Given the description of an element on the screen output the (x, y) to click on. 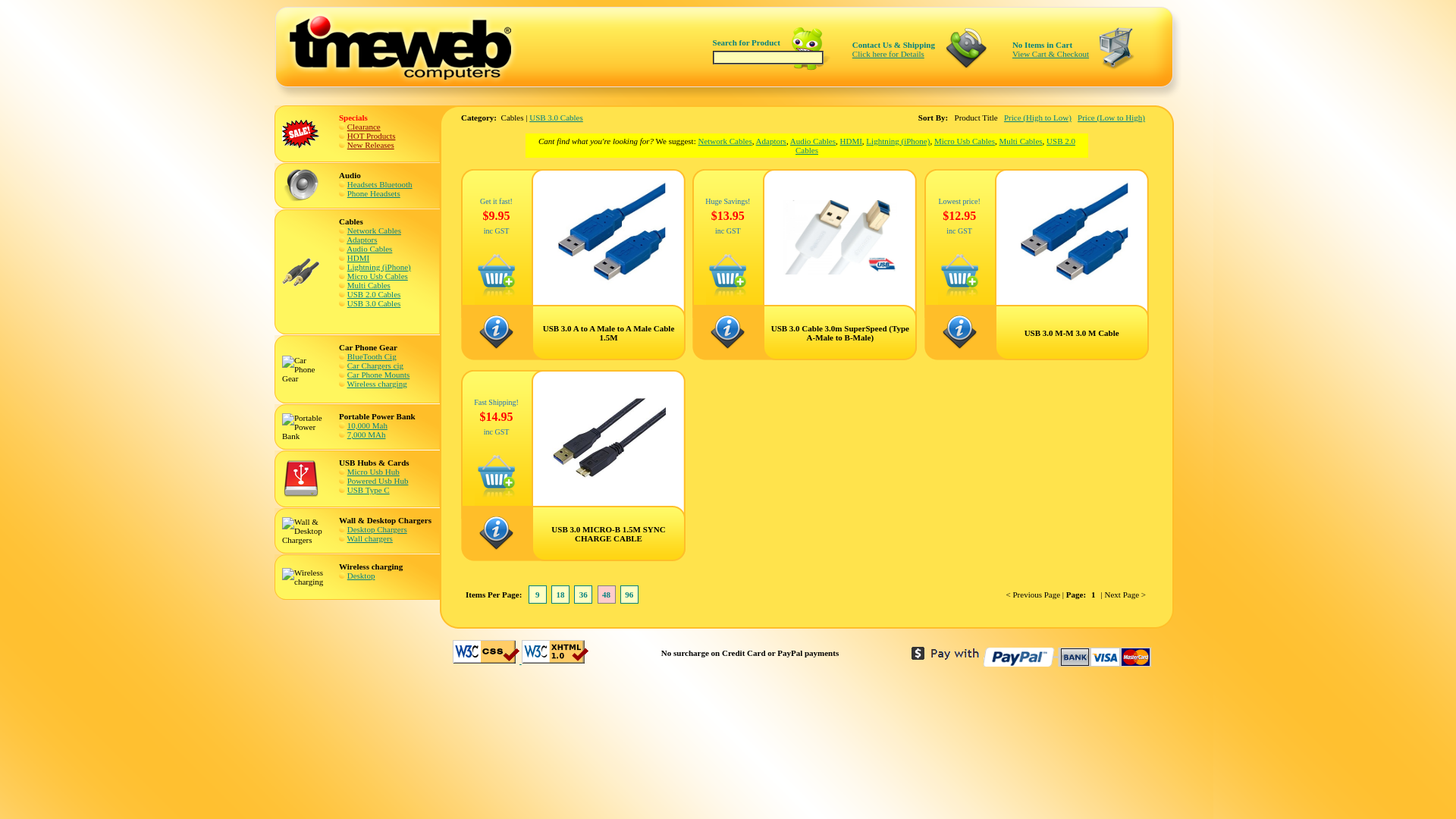
96 Element type: text (628, 594)
Multi Cables Element type: text (1019, 140)
Product Title Element type: text (975, 117)
Network Cables Element type: text (374, 230)
Cables Element type: hover (301, 272)
9 Element type: text (537, 594)
Adaptors Element type: text (771, 140)
< Previous Page Element type: text (1033, 594)
USB 2.0 Cables Element type: text (374, 293)
Audio Element type: hover (301, 185)
HDMI Element type: text (358, 257)
Desktop Element type: text (361, 575)
10,000 Mah Element type: text (367, 424)
Micro Usb Cables Element type: text (964, 140)
HOT Products Element type: text (371, 135)
Powered Usb Hub Element type: text (377, 480)
Desktop Chargers Element type: text (377, 528)
Add to Cart Element type: hover (727, 293)
USB 3.0 Cables Element type: text (374, 302)
Micro Usb Hub Element type: text (373, 471)
Audio Cables Element type: text (812, 140)
BlueTooth Cig Element type: text (371, 355)
Micro Usb Cables Element type: text (377, 275)
Specials Element type: hover (301, 134)
USB 3.0 Cables Element type: text (556, 117)
Car Phone Mounts Element type: text (378, 374)
Headsets Bluetooth Element type: text (379, 183)
USB 3.0 A to A Male to A Male Cable 1.5M Element type: hover (608, 290)
Product Details : USB 3.0 MICRO-B 1.5M SYNC CHARGE CABLE Element type: hover (496, 547)
View Cart & Checkout Element type: text (1050, 52)
Adaptors Element type: text (361, 239)
Add to Cart Element type: hover (495, 293)
Network Cables Element type: text (724, 140)
Multi Cables Element type: text (368, 284)
Lightning (iPhone) Element type: text (379, 266)
USB Type C Element type: text (368, 489)
18 Element type: text (560, 594)
Car Chargers cig Element type: text (375, 365)
Price (Low to High) Element type: text (1111, 117)
USB 3.0 Cable  3.0m SuperSpeed (Type A-Male to B-Male) Element type: hover (840, 270)
Clearance Element type: text (363, 126)
Add to Cart Element type: hover (495, 493)
Portable Power Bank Element type: hover (304, 426)
Product Details : USB 3.0 M-M 3.0 M Cable Element type: hover (959, 346)
New Releases Element type: text (370, 144)
USB 3.0 M-M 3.0 M Cable Element type: hover (1071, 290)
USB 3.0 MICRO-B 1.5M SYNC CHARGE CABLE Element type: hover (608, 491)
Payment Options Element type: hover (1032, 657)
Next Page > Element type: text (1124, 594)
48 Element type: text (606, 594)
HDMI Element type: text (851, 140)
36 Element type: text (583, 594)
Lightning (iPhone) Element type: text (897, 140)
Wireless charging Element type: text (377, 383)
Wall chargers Element type: text (369, 537)
Car Phone Gear Element type: hover (304, 368)
Audio Cables Element type: text (369, 248)
Wall & Desktop Chargers Element type: hover (304, 530)
USB 2.0 Cables Element type: text (935, 145)
Wireless charging  Element type: hover (304, 576)
Product Details : USB 3.0 A to A Male to A Male Cable 1.5M Element type: hover (496, 346)
Add to Cart Element type: hover (959, 293)
Price (High to Low) Element type: text (1037, 117)
Phone Headsets Element type: text (373, 192)
Click here for Details Element type: text (888, 52)
TimeWeb Computers Element type: hover (410, 45)
1 Element type: text (1093, 594)
7,000 MAh Element type: text (366, 434)
USB Hubs & Cards  Element type: hover (301, 478)
